Given the description of an element on the screen output the (x, y) to click on. 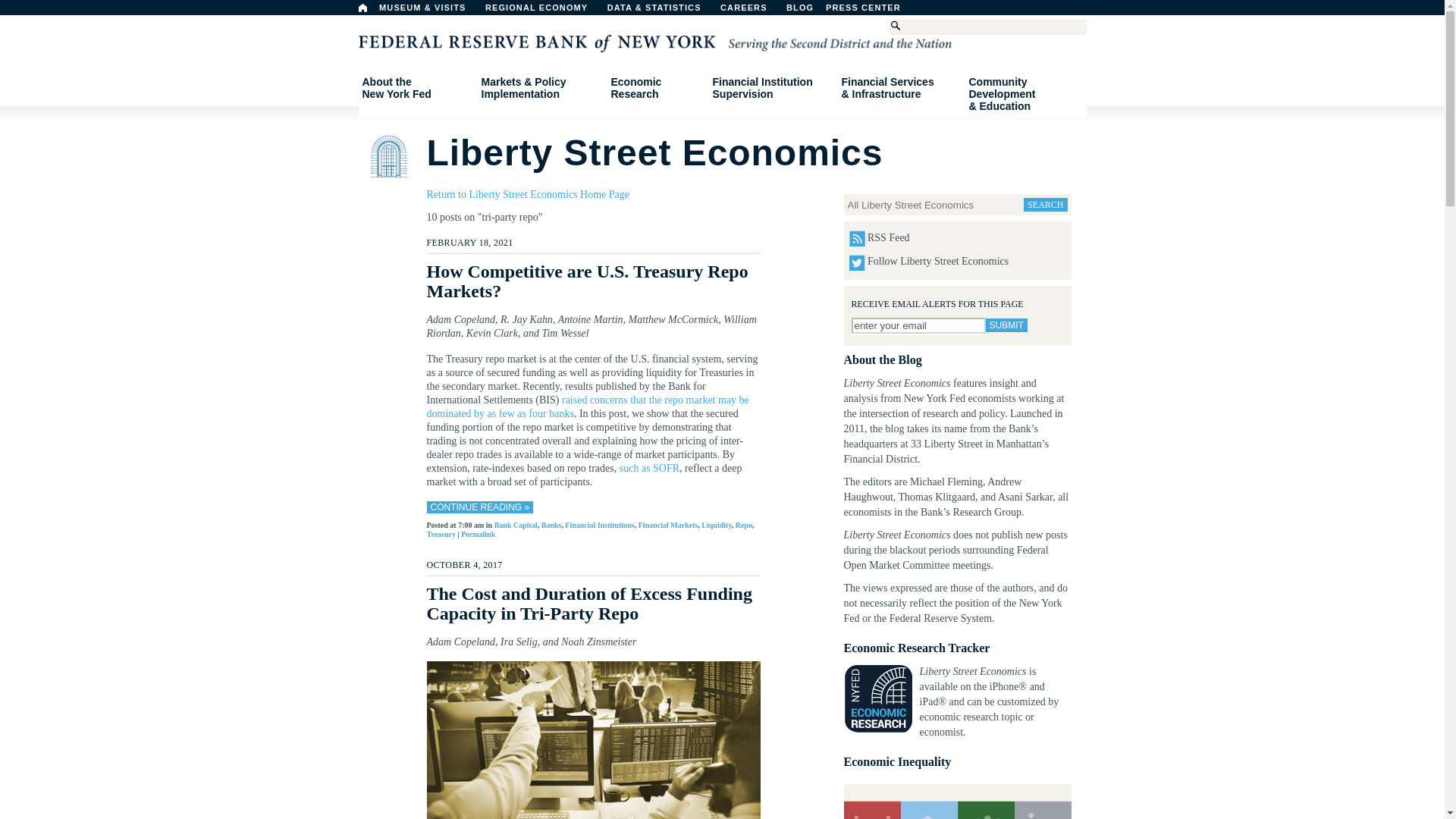
CAREERS (751, 11)
enter your email (917, 325)
Home (362, 8)
REGIONAL ECONOMY (543, 11)
Submit (1006, 325)
PRESS CENTER (870, 11)
BLOG (839, 11)
